Given the description of an element on the screen output the (x, y) to click on. 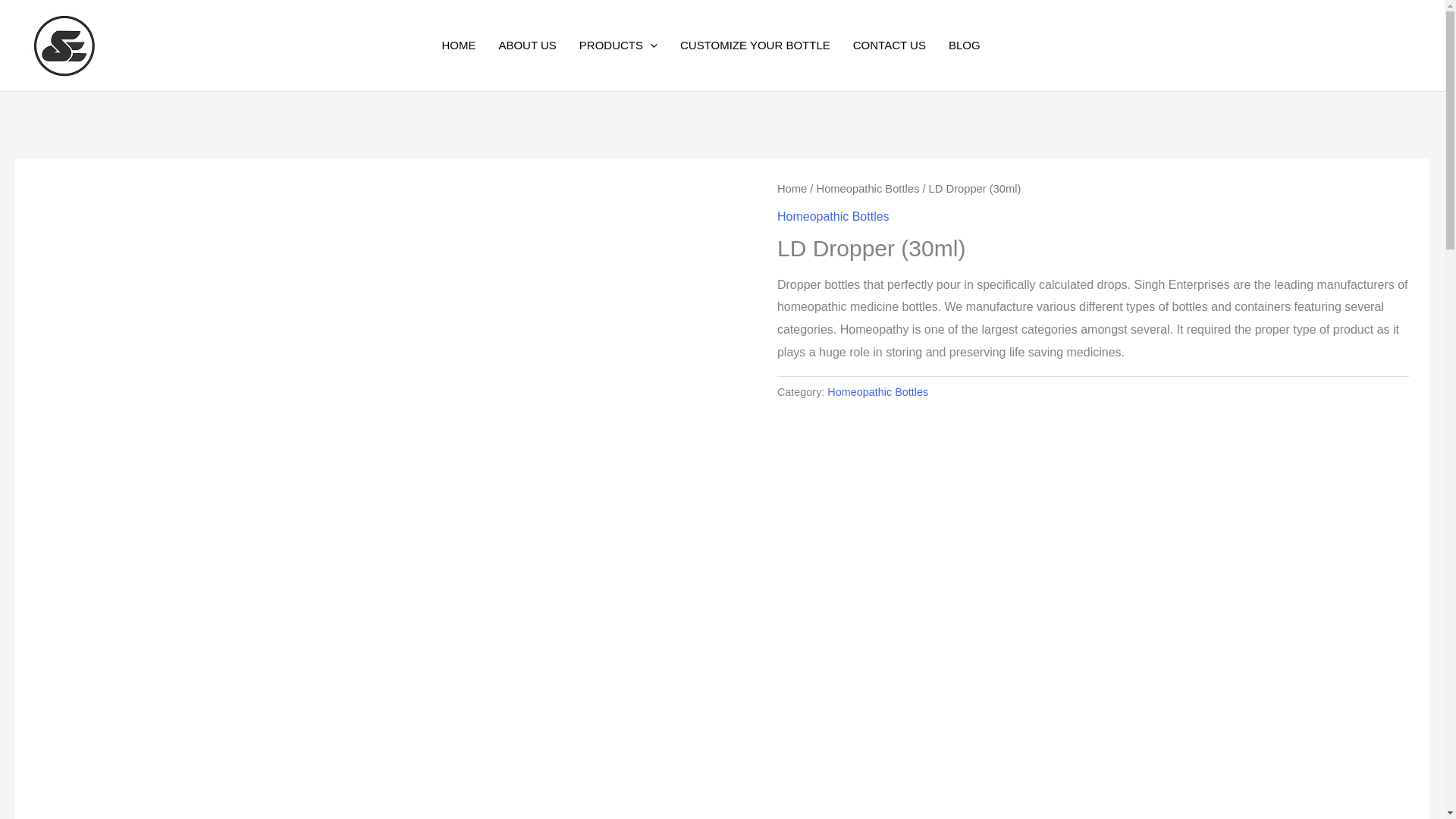
CUSTOMIZE YOUR BOTTLE (766, 45)
Homeopathic Bottles (877, 391)
PRODUCTS (629, 45)
ABOUT US (537, 45)
Homeopathic Bottles (833, 215)
Homeopathic Bottles (868, 188)
2326 (343, 14)
CONTACT US (901, 45)
Home (791, 188)
